Given the description of an element on the screen output the (x, y) to click on. 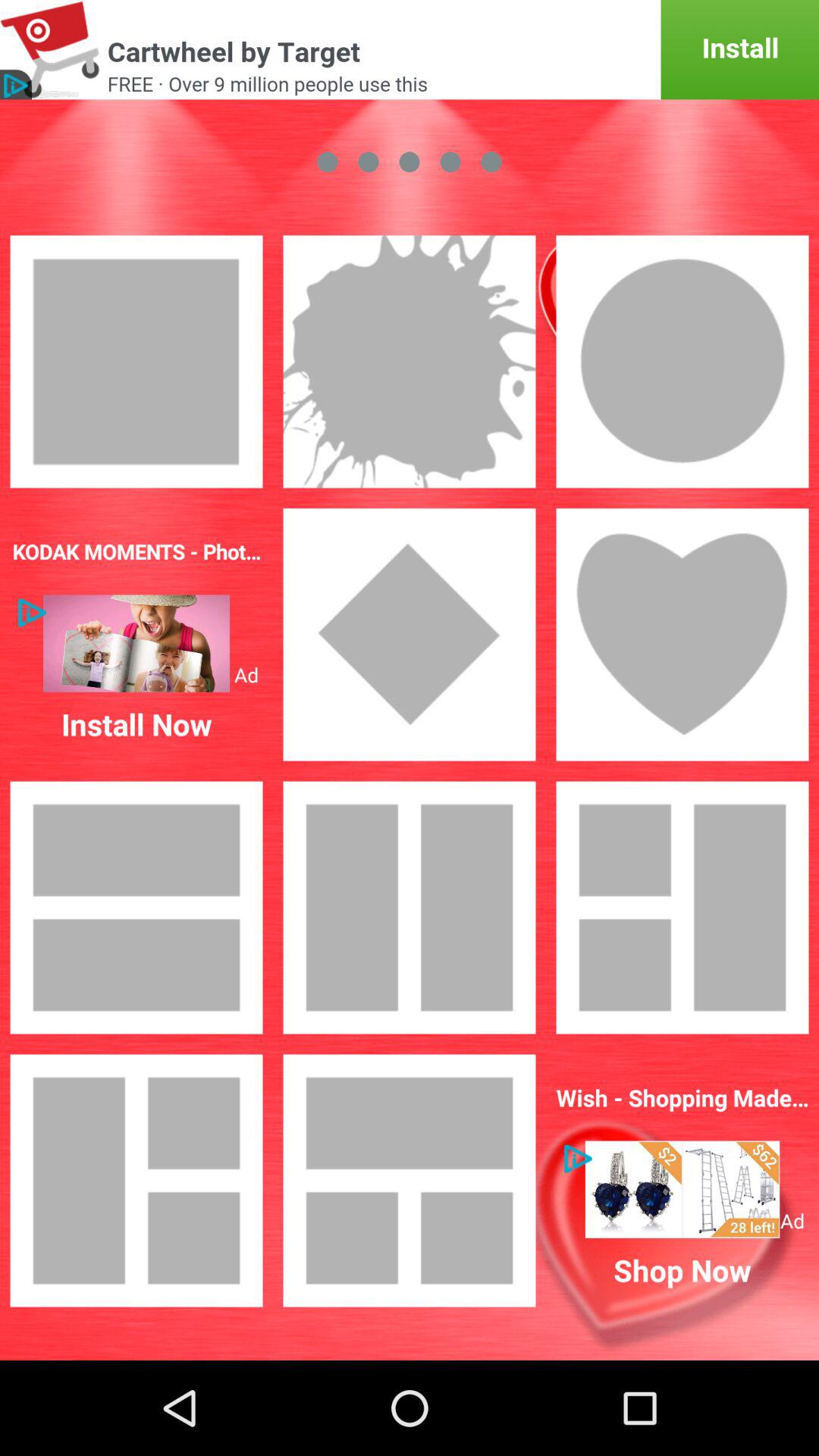
click on the third image under green color button (682, 361)
click on the second circle from the left at the top of the page (368, 161)
click on the third image from top positioned at the right side of the page (409, 907)
